Given the description of an element on the screen output the (x, y) to click on. 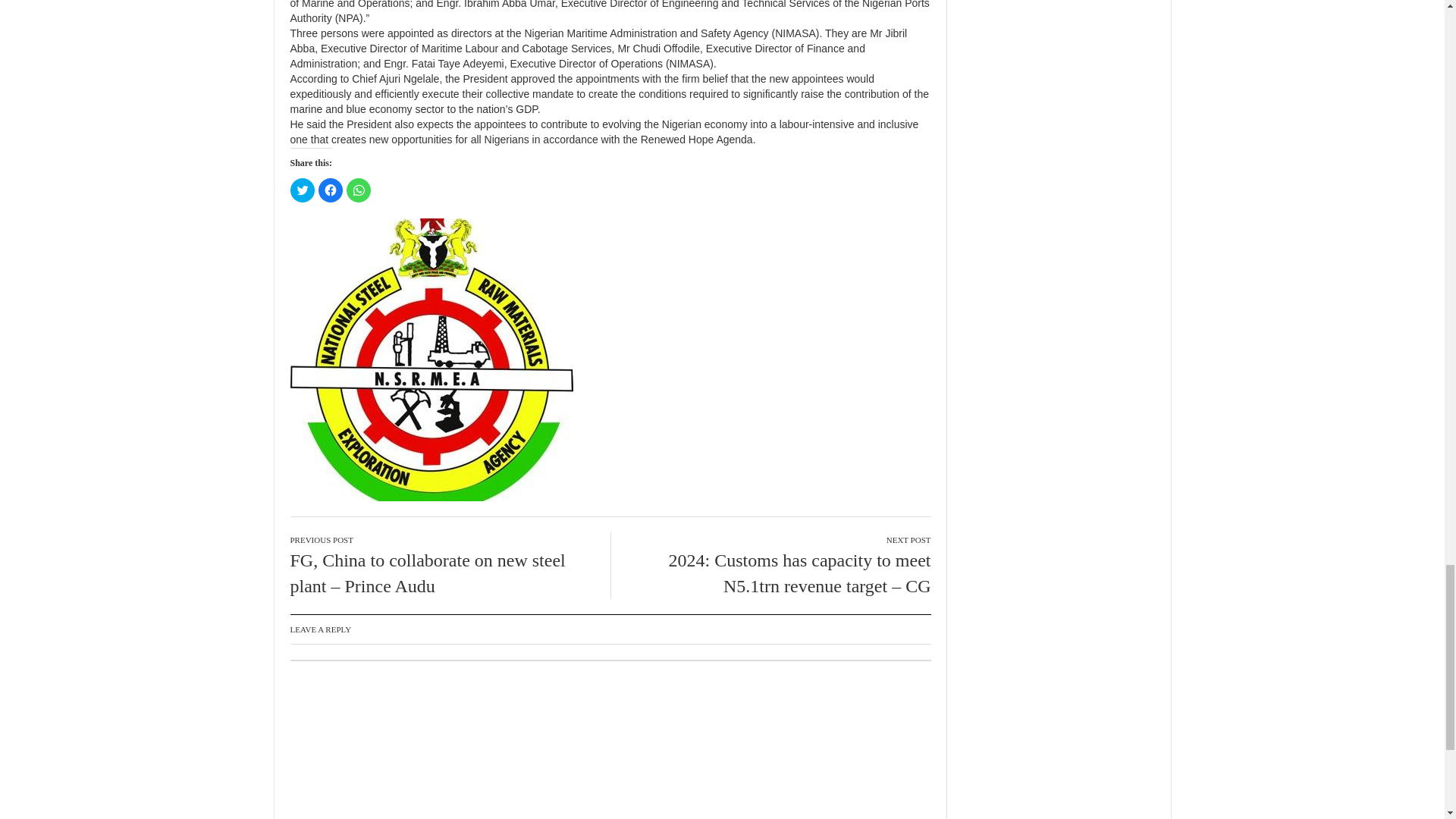
Click to share on Facebook (330, 190)
Comment Form (609, 739)
Click to share on WhatsApp (357, 190)
Click to share on Twitter (301, 190)
